Given the description of an element on the screen output the (x, y) to click on. 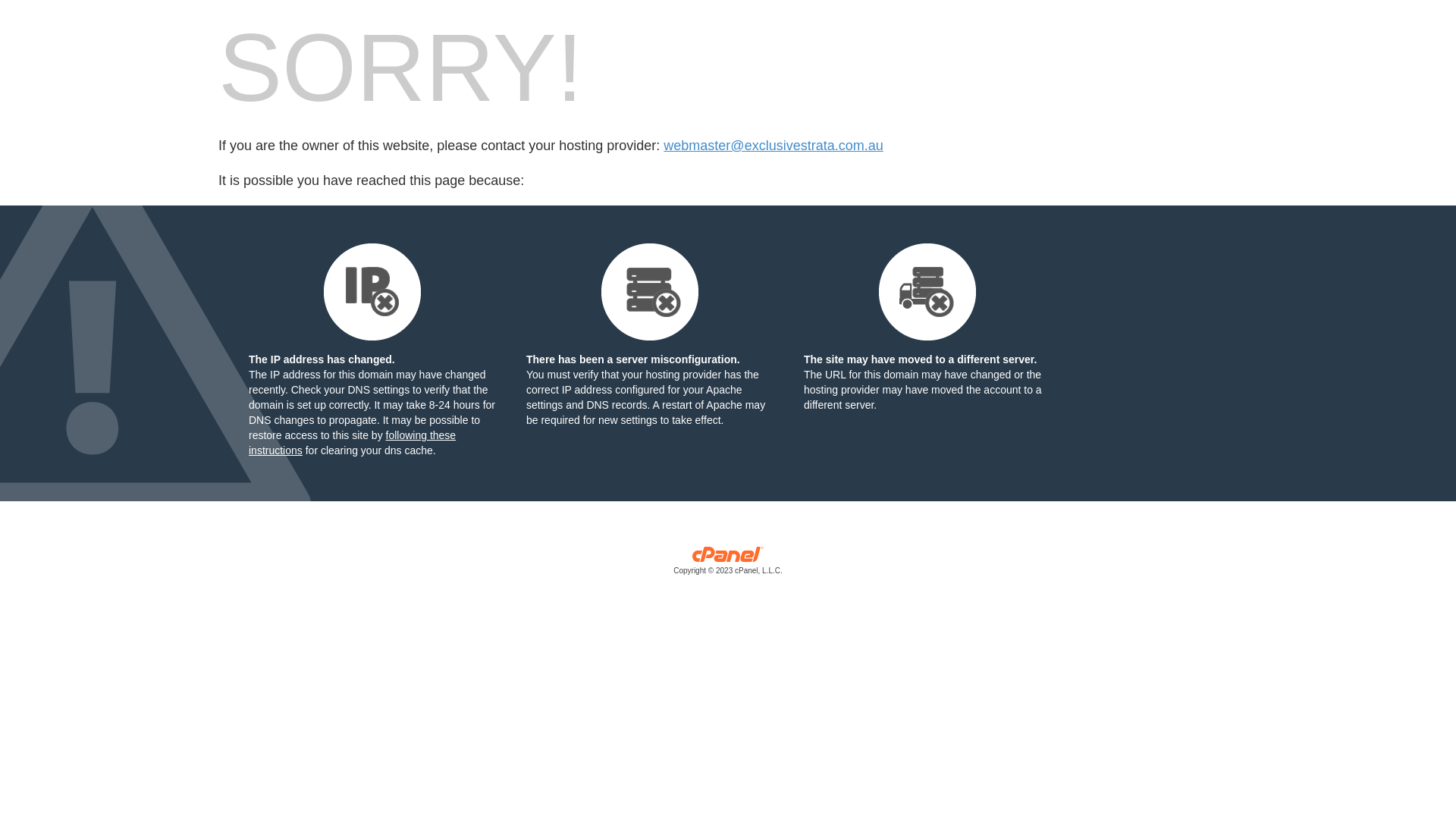
webmaster@exclusivestrata.com.au Element type: text (772, 145)
following these instructions Element type: text (351, 442)
